Given the description of an element on the screen output the (x, y) to click on. 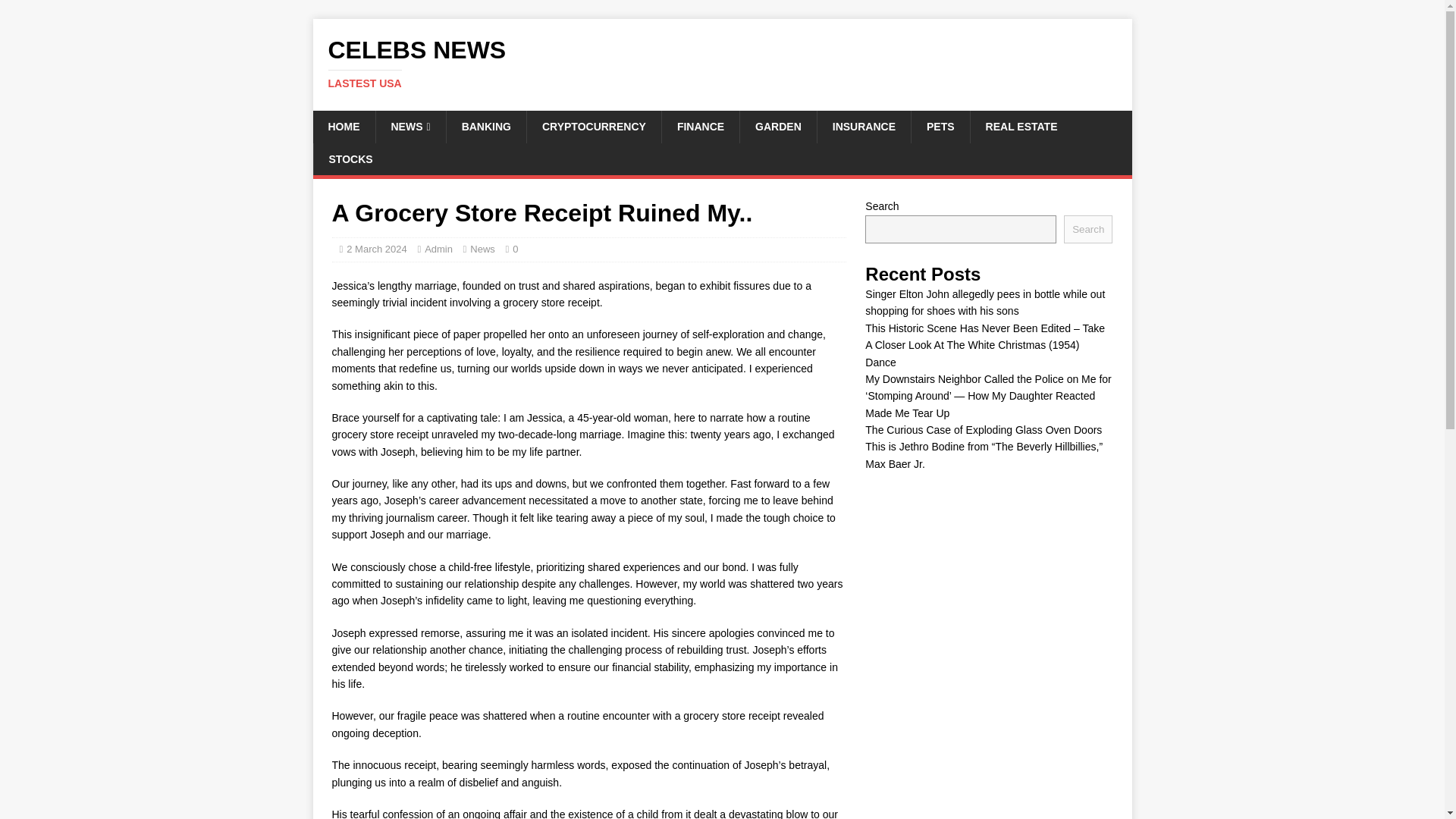
REAL ESTATE (1021, 126)
INSURANCE (721, 63)
NEWS (863, 126)
STOCKS (409, 126)
Admin (350, 159)
FINANCE (438, 248)
2 March 2024 (700, 126)
CRYPTOCURRENCY (376, 248)
Celebs News (593, 126)
GARDEN (721, 63)
HOME (777, 126)
News (343, 126)
PETS (482, 248)
BANKING (940, 126)
